Given the description of an element on the screen output the (x, y) to click on. 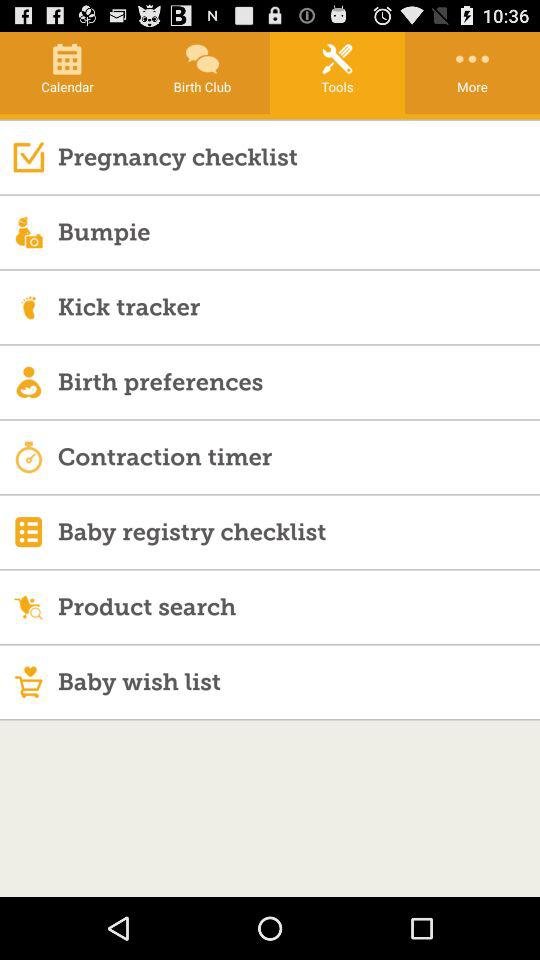
jump to kick tracker icon (298, 306)
